Given the description of an element on the screen output the (x, y) to click on. 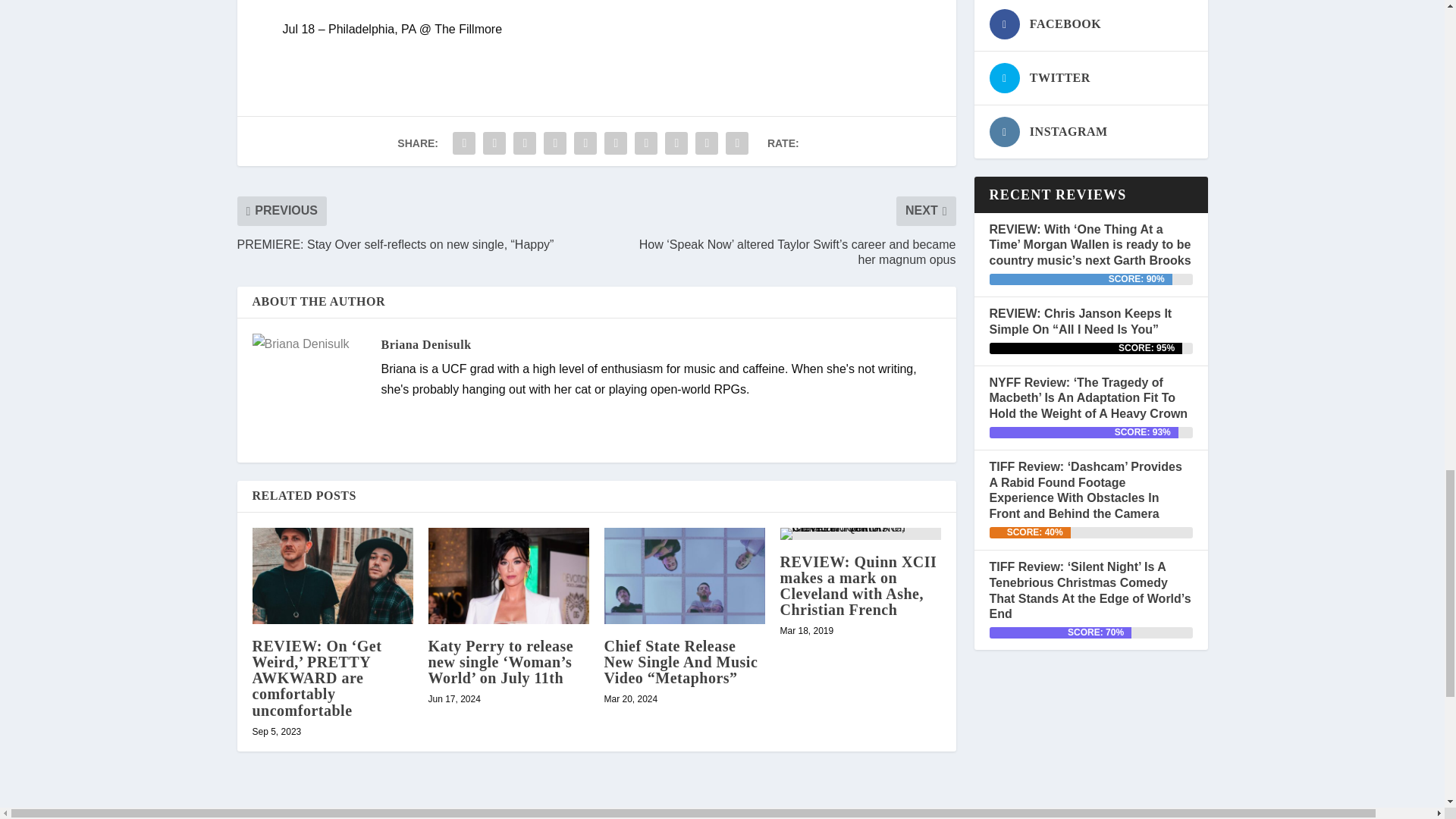
View all posts by Briana Denisulk (425, 344)
